Given the description of an element on the screen output the (x, y) to click on. 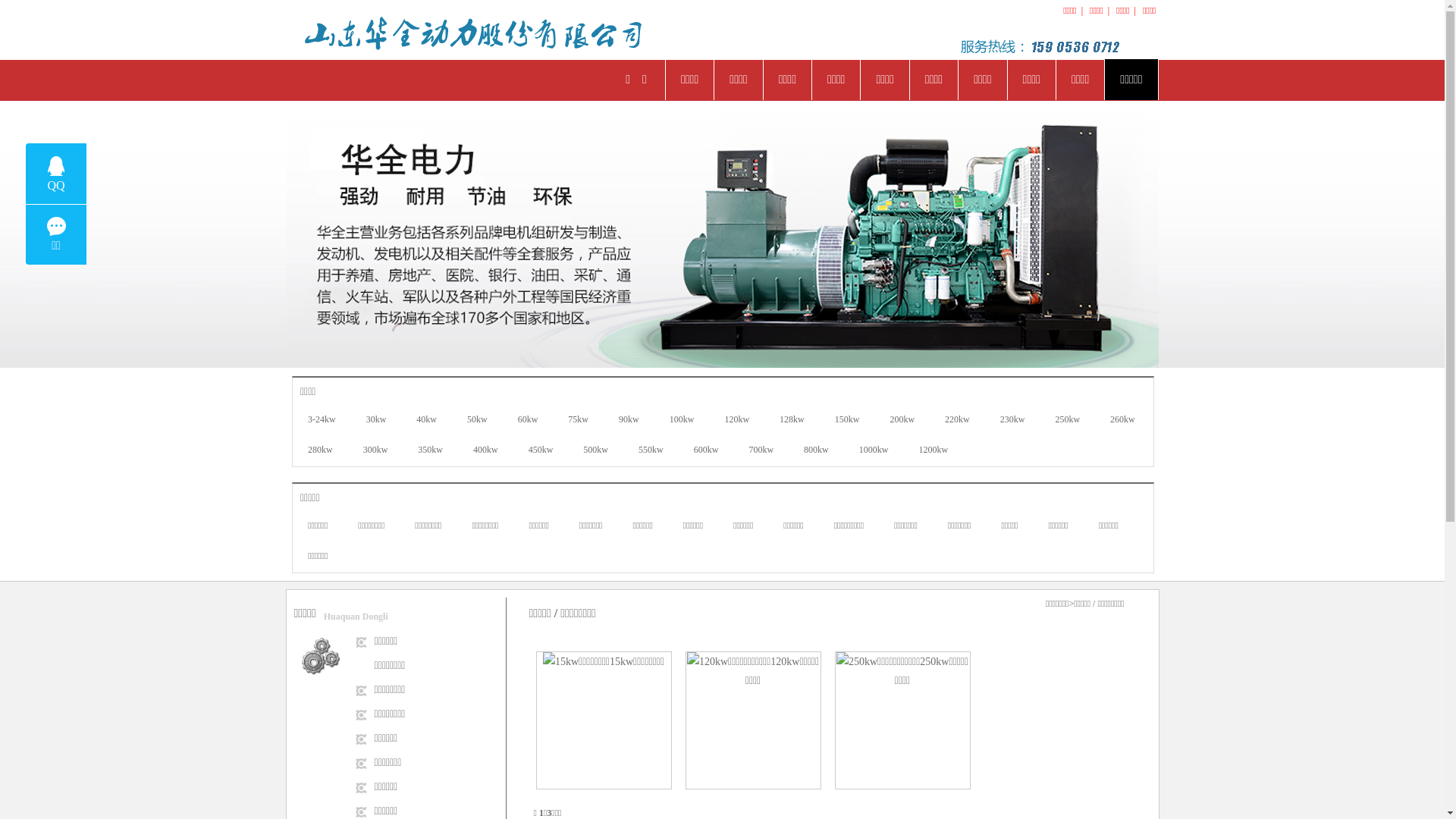
| Element type: text (1134, 10)
75kw Element type: text (577, 419)
120kw Element type: text (736, 419)
200kw Element type: text (901, 419)
300kw Element type: text (375, 449)
150kw Element type: text (846, 419)
230kw Element type: text (1012, 419)
50kw Element type: text (477, 419)
| Element type: text (1081, 10)
30kw Element type: text (376, 419)
280kw Element type: text (319, 449)
800kw Element type: text (815, 449)
550kw Element type: text (650, 449)
250kw Element type: text (1066, 419)
3-24kw Element type: text (321, 419)
128kw Element type: text (791, 419)
100kw Element type: text (681, 419)
90kw Element type: text (628, 419)
1200kw Element type: text (932, 449)
400kw Element type: text (485, 449)
600kw Element type: text (705, 449)
450kw Element type: text (540, 449)
220kw Element type: text (956, 419)
60kw Element type: text (527, 419)
| Element type: text (1108, 10)
500kw Element type: text (595, 449)
350kw Element type: text (429, 449)
40kw Element type: text (426, 419)
700kw Element type: text (760, 449)
1000kw Element type: text (873, 449)
260kw Element type: text (1122, 419)
